Given the description of an element on the screen output the (x, y) to click on. 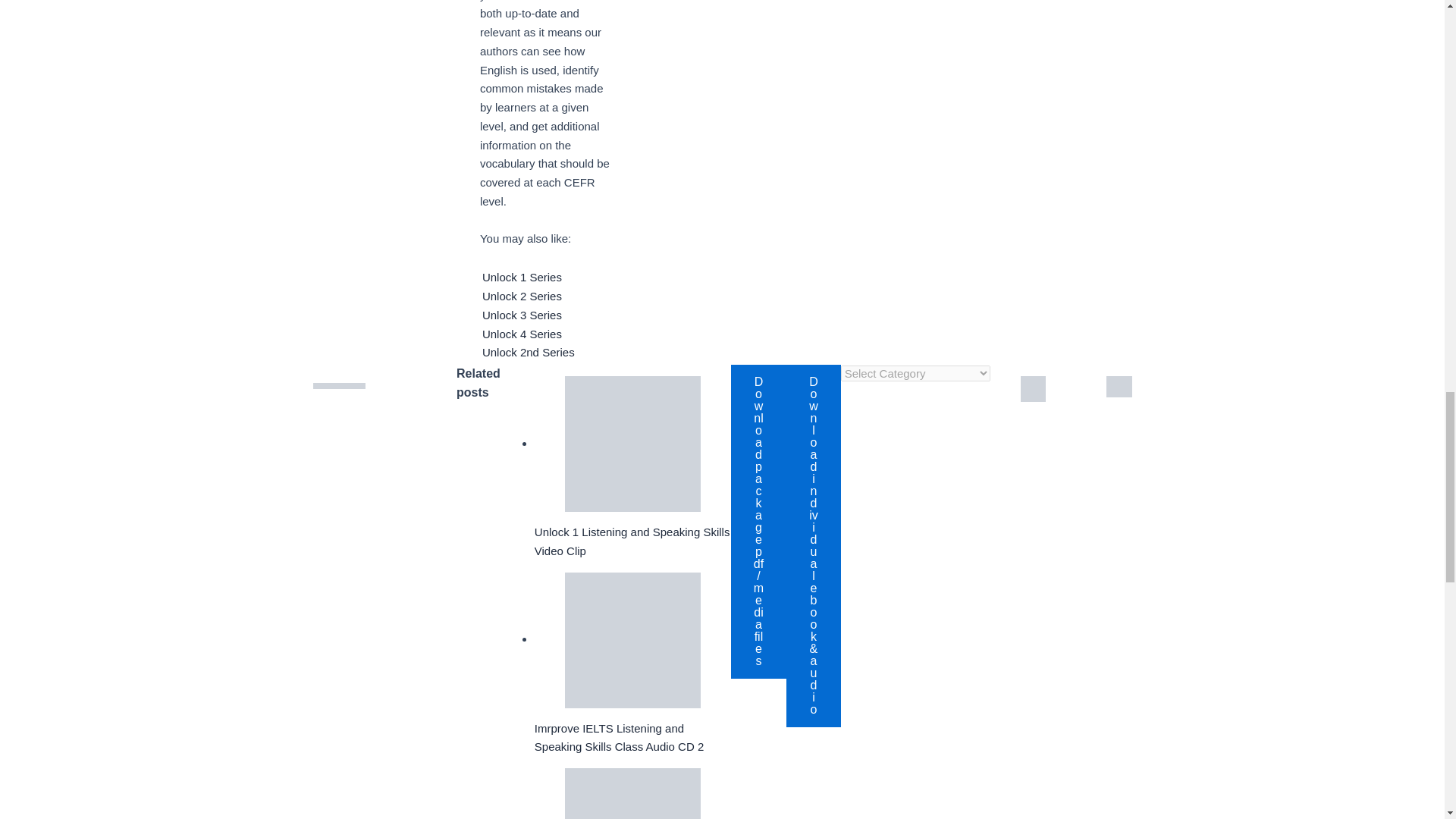
Unlock 1 Listening and Speaking Skills Video Clip (632, 443)
Unlock 4 Listening and Speaking Skills Teacher's Book (632, 793)
